Given the description of an element on the screen output the (x, y) to click on. 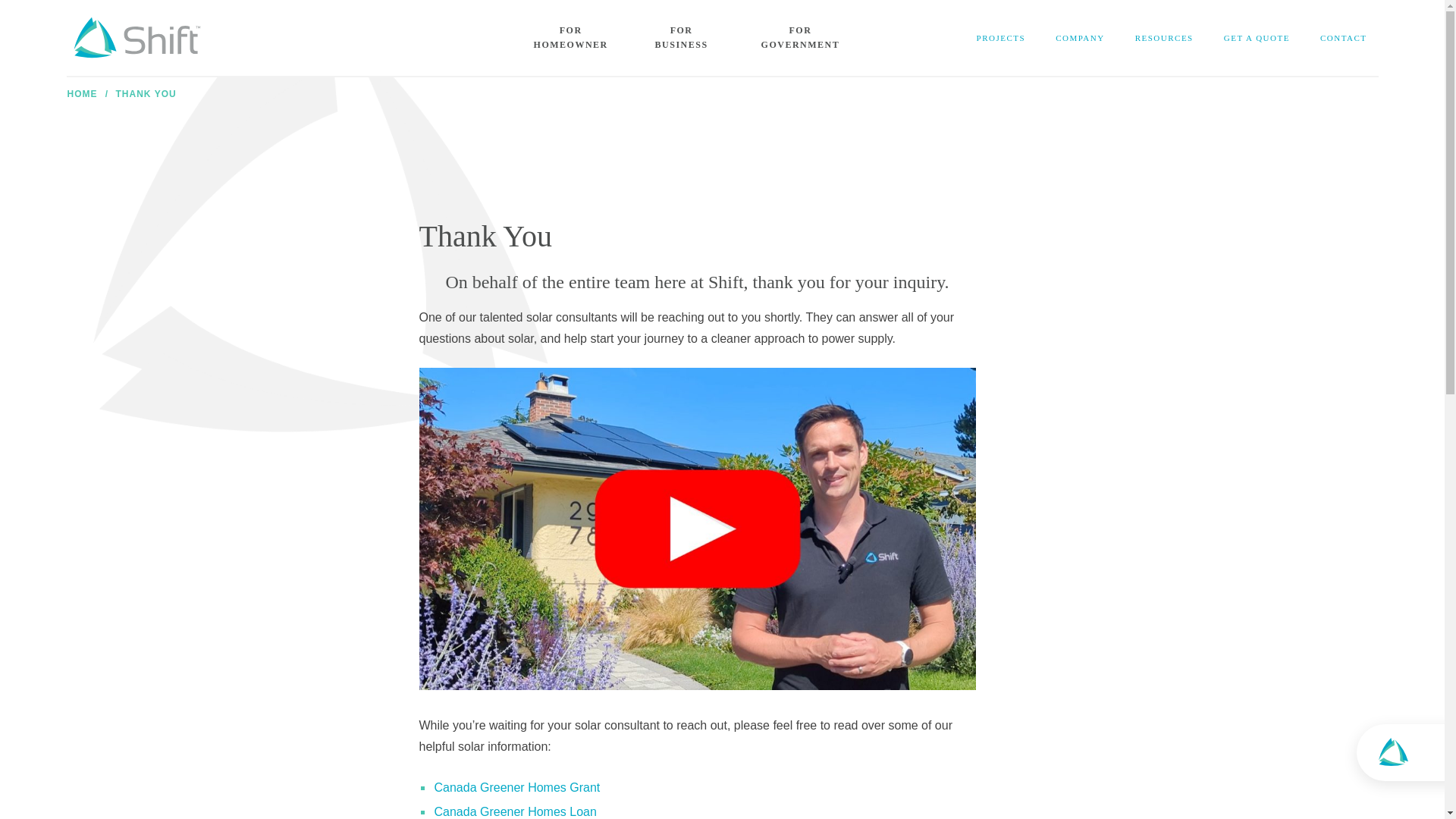
CONTACT (1342, 38)
FOR BUSINESS (681, 38)
GET A QUOTE (1256, 38)
PROJECTS (1000, 38)
RESOURCES (1163, 38)
COMPANY (1080, 38)
FOR GOVERNMENT (800, 38)
FOR HOMEOWNER (570, 38)
